Given the description of an element on the screen output the (x, y) to click on. 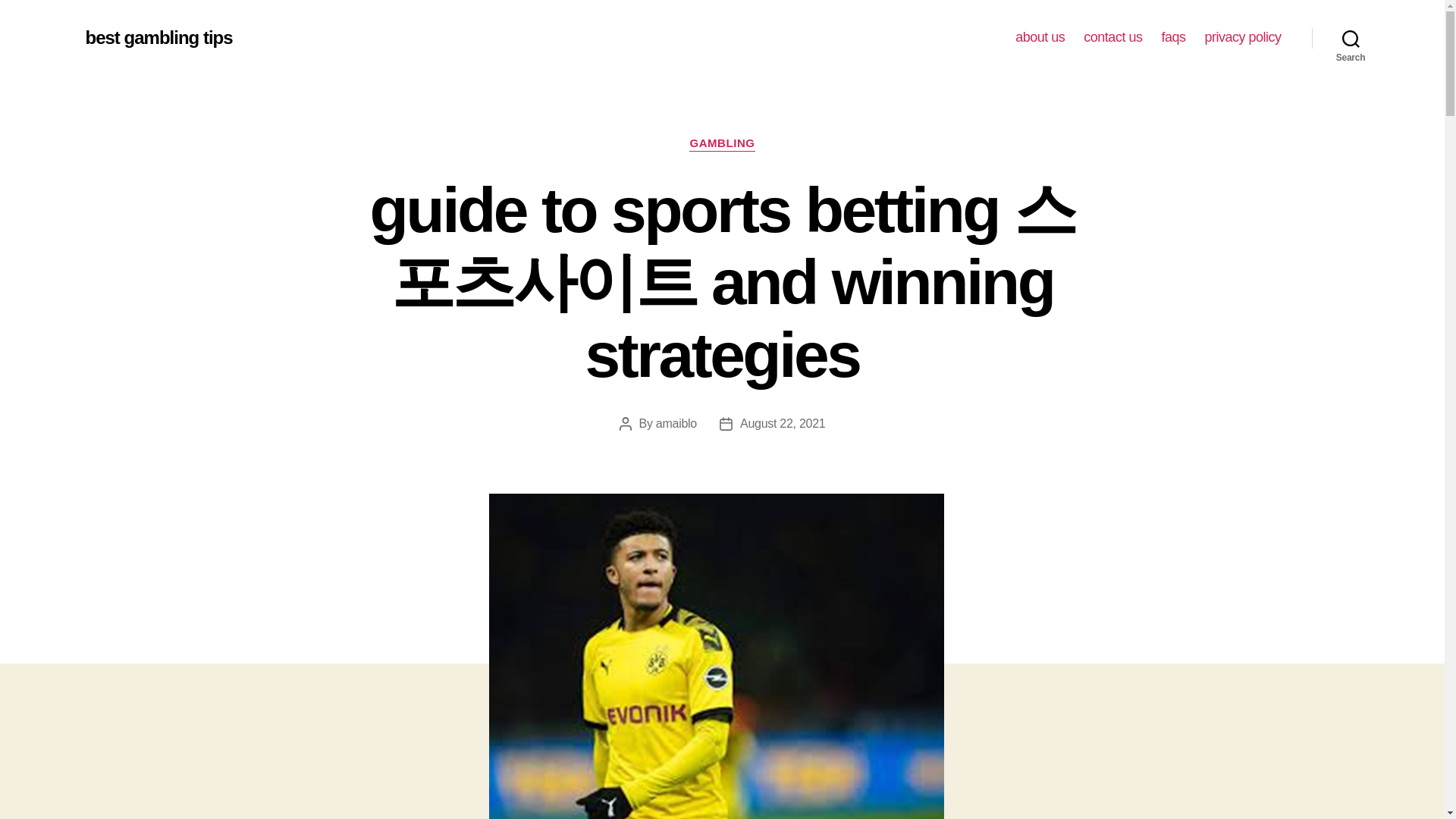
about us (1039, 37)
faqs (1172, 37)
privacy policy (1242, 37)
GAMBLING (721, 143)
amaiblo (676, 422)
Search (1350, 37)
best gambling tips (157, 37)
contact us (1112, 37)
August 22, 2021 (782, 422)
